Given the description of an element on the screen output the (x, y) to click on. 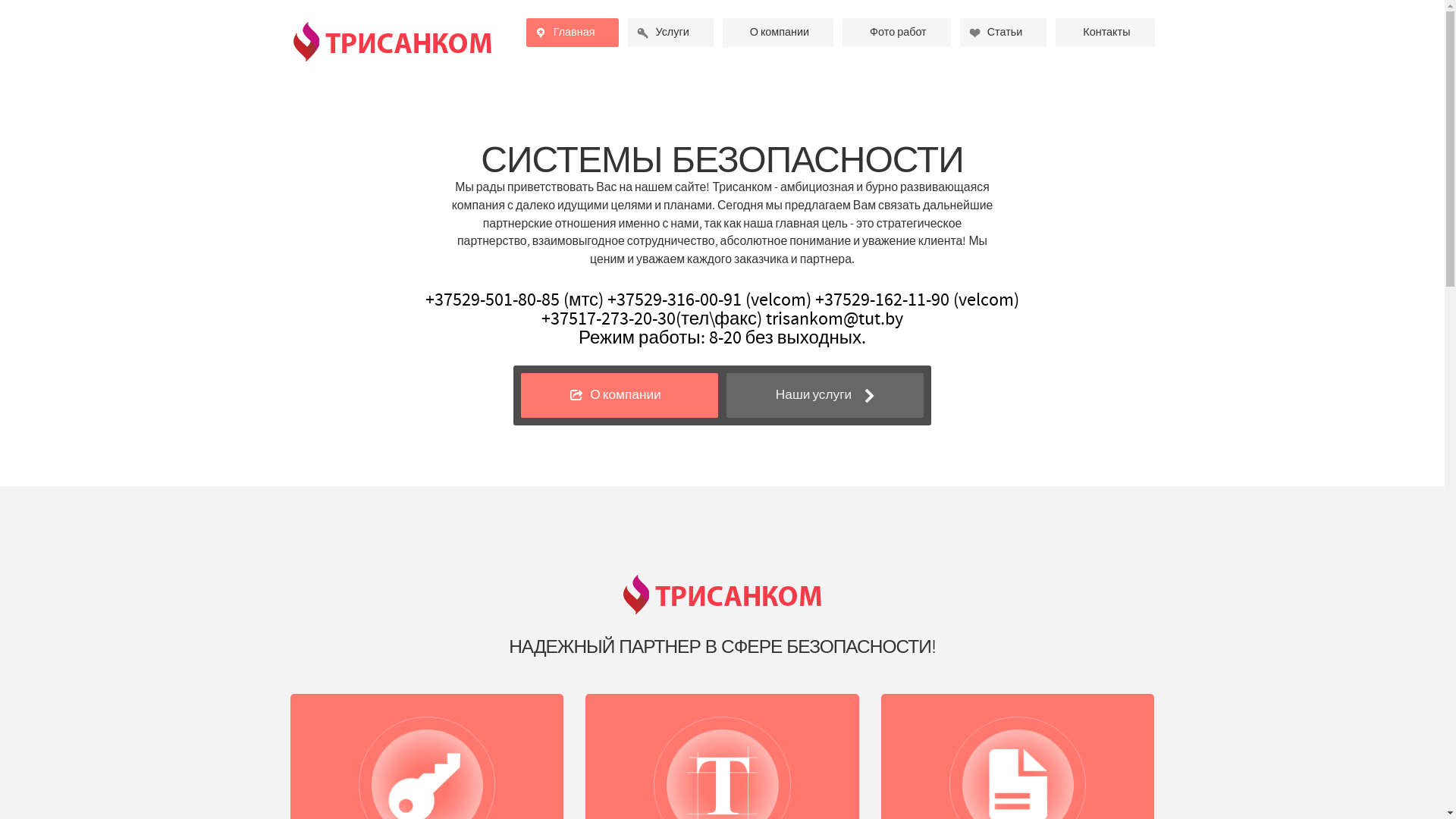
trisankom@tut.by Element type: text (834, 318)
